Given the description of an element on the screen output the (x, y) to click on. 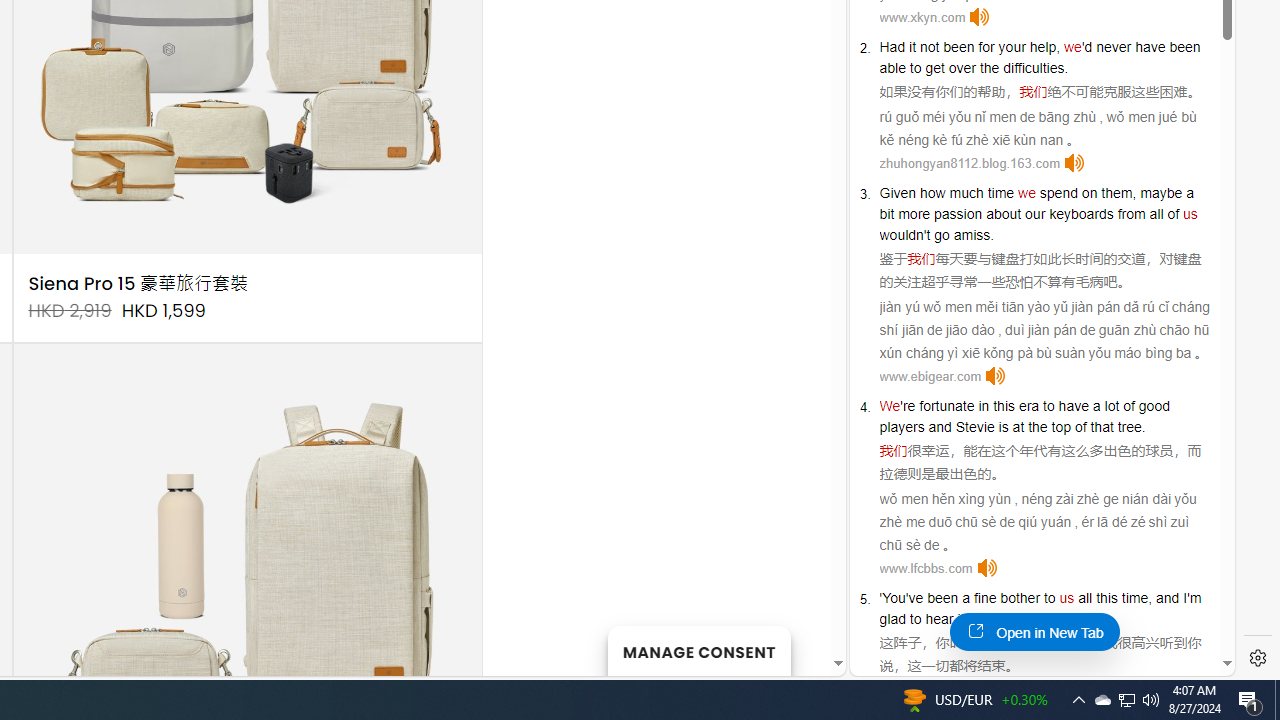
a bit (1036, 203)
spend (1058, 192)
this (1106, 597)
MANAGE CONSENT (698, 650)
of (1173, 213)
more (914, 213)
difficulties (1033, 67)
